Given the description of an element on the screen output the (x, y) to click on. 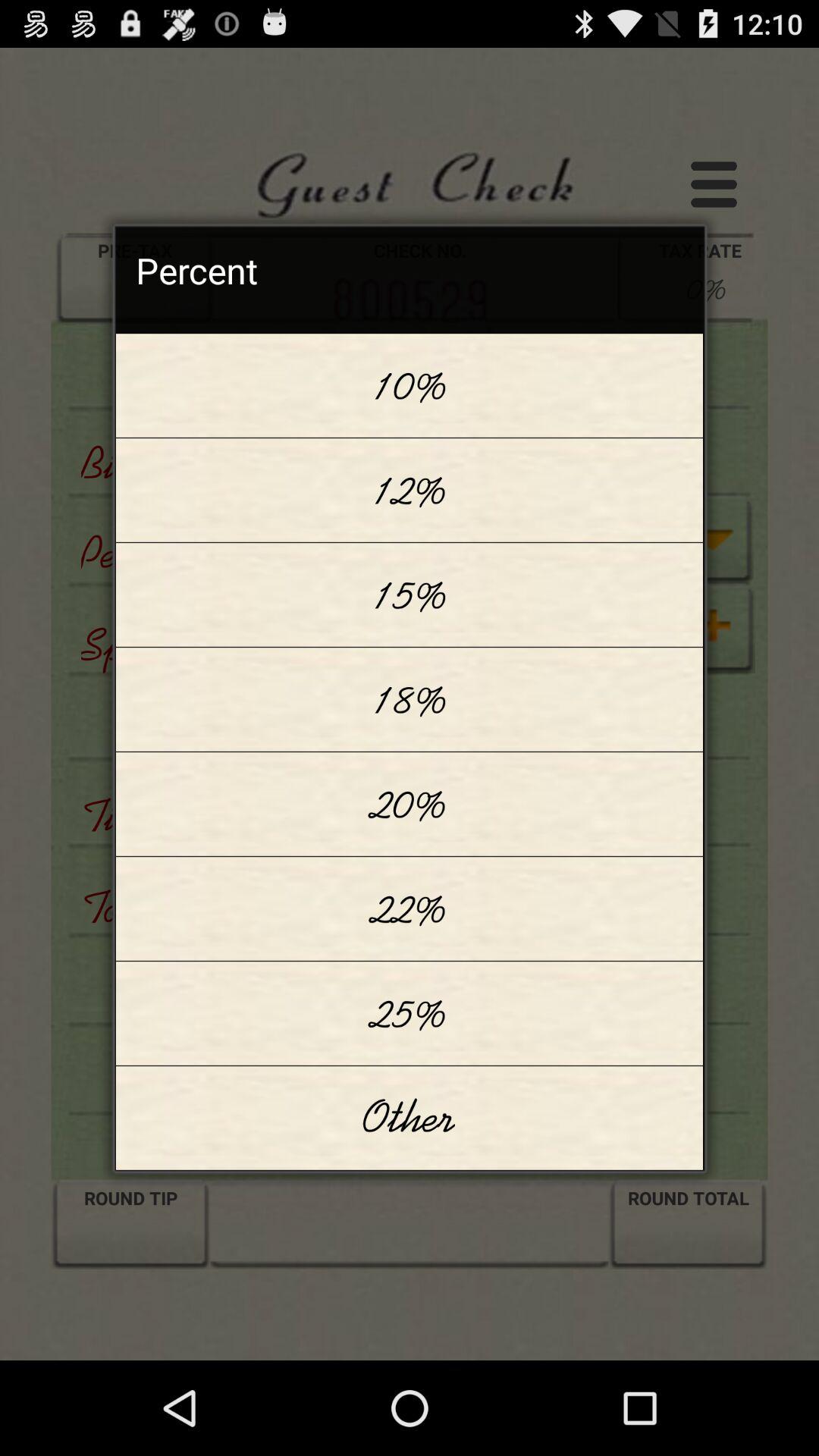
click the item below 22% app (409, 1012)
